Given the description of an element on the screen output the (x, y) to click on. 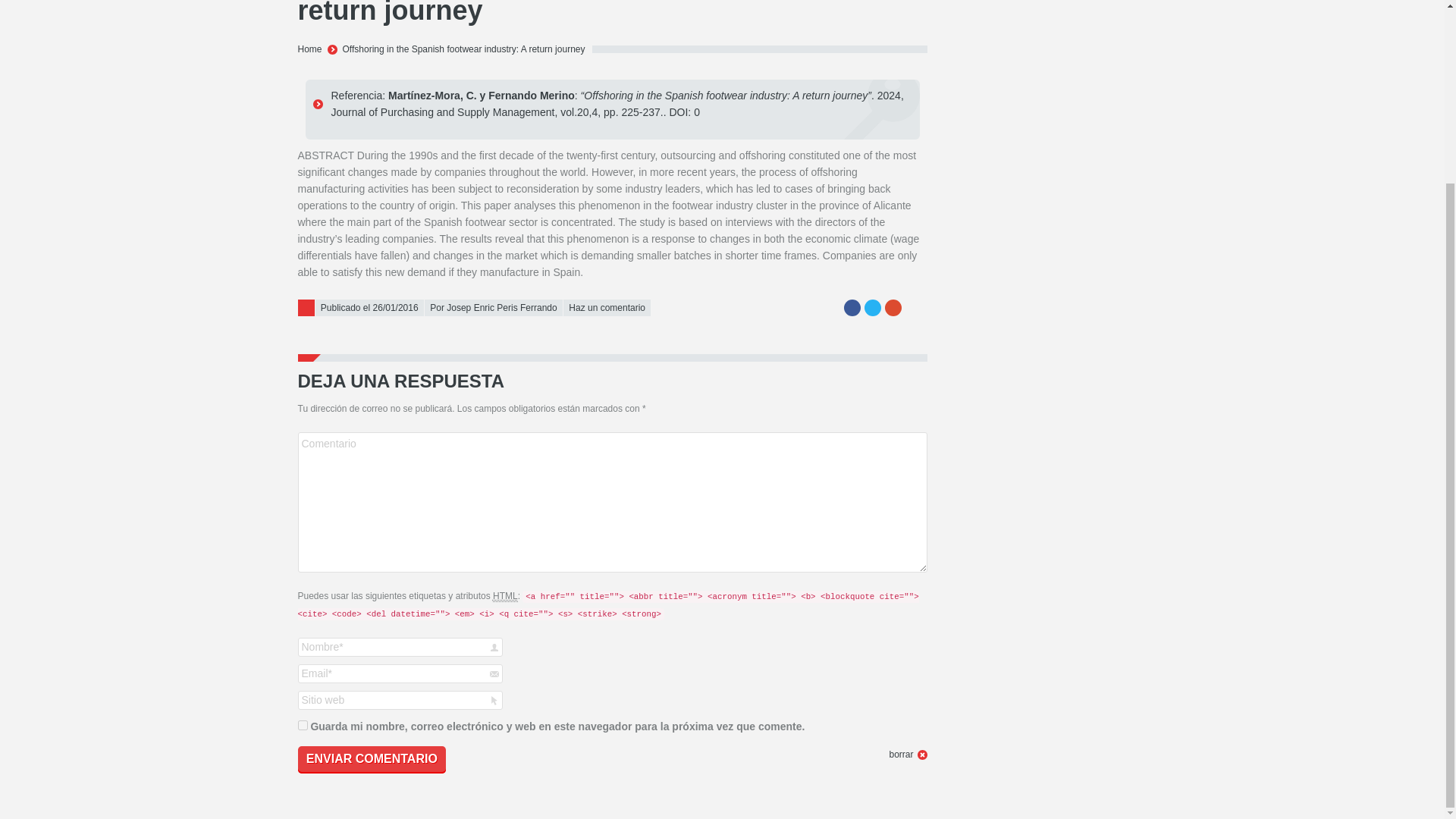
Haz un comentario (606, 307)
Facebook (851, 307)
Home (309, 49)
9:17 am (369, 307)
Twitter (872, 307)
Twitter (872, 307)
HyperText Markup Language (505, 595)
Facebook (851, 307)
yes (302, 725)
borrar (907, 754)
Por Josep Enric Peris Ferrando (493, 307)
Ver todas las entradas de Josep Enric Peris Ferrando (493, 307)
ENVIAR COMENTARIO (371, 759)
